Given the description of an element on the screen output the (x, y) to click on. 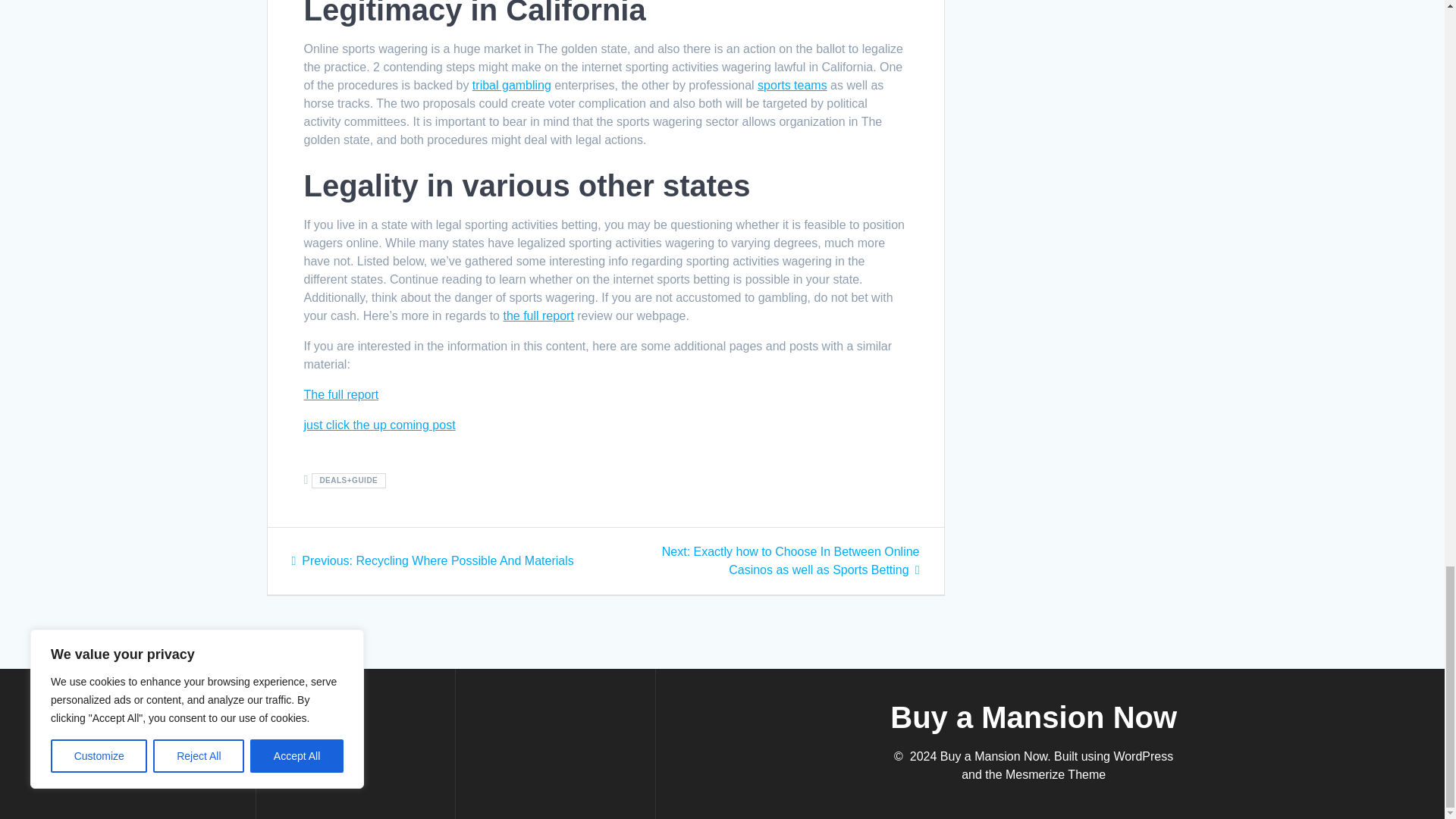
just click the up coming post (378, 424)
tribal gambling (511, 84)
sports teams (792, 84)
The full report (340, 394)
the full report (537, 315)
